Given the description of an element on the screen output the (x, y) to click on. 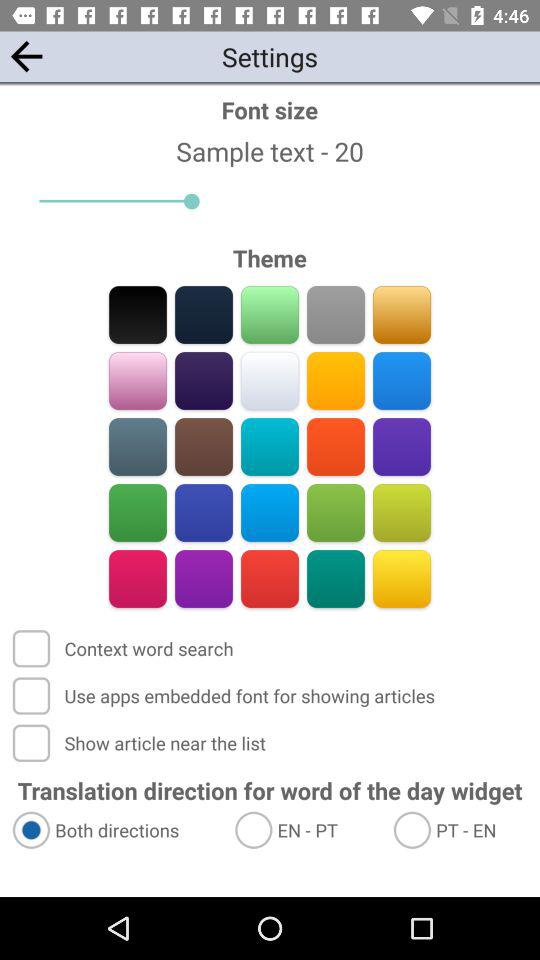
choose the use apps embedded icon (225, 695)
